Given the description of an element on the screen output the (x, y) to click on. 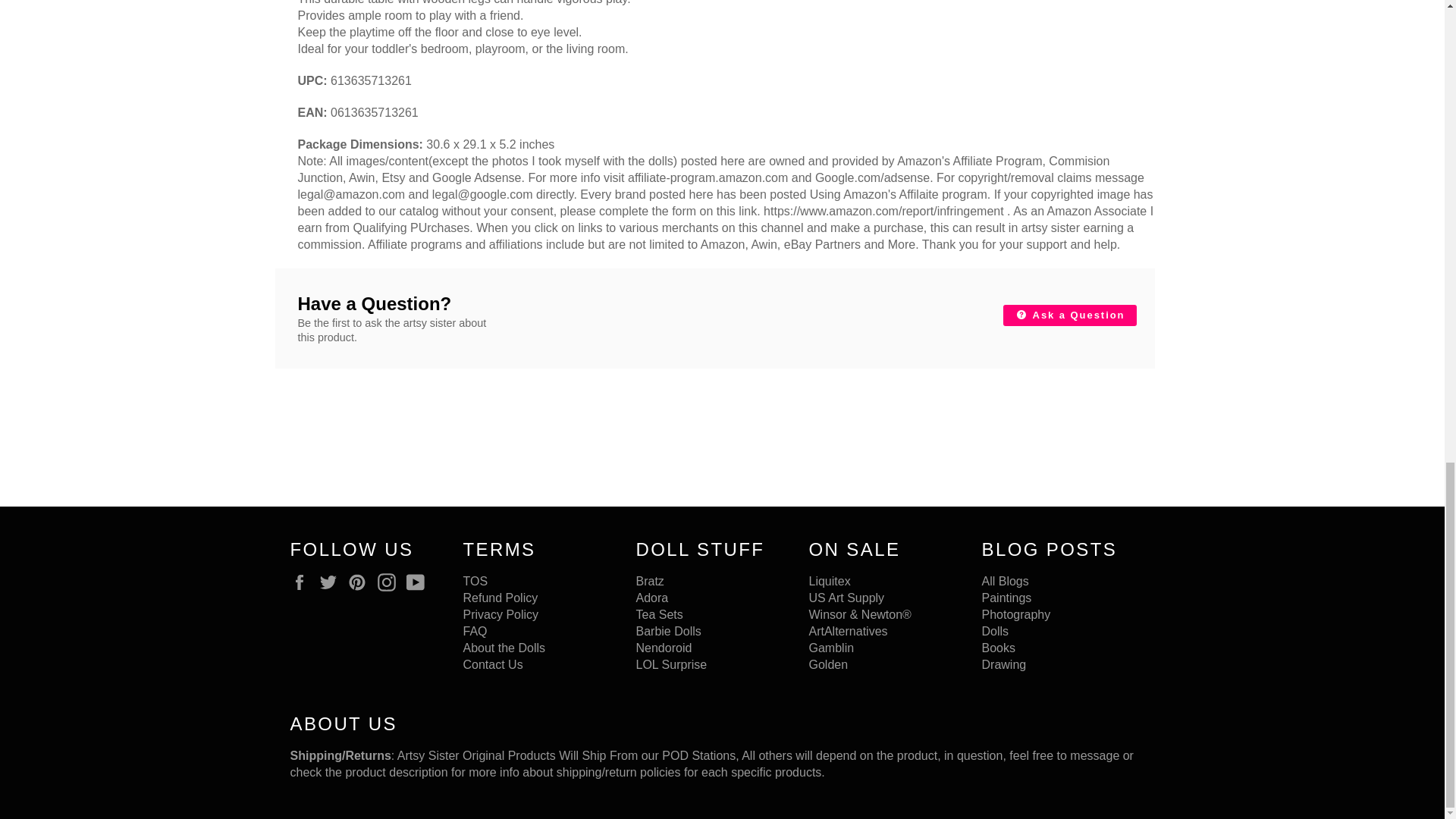
Artsy Sister - Art Supplies on Twitter (331, 582)
Artsy Sister - Art Supplies on Pinterest (360, 582)
Artsy Sister - Art Supplies on Facebook (302, 582)
Artsy Sister - Art Supplies on Instagram (390, 582)
Artsy Sister on YouTube (419, 582)
